Given the description of an element on the screen output the (x, y) to click on. 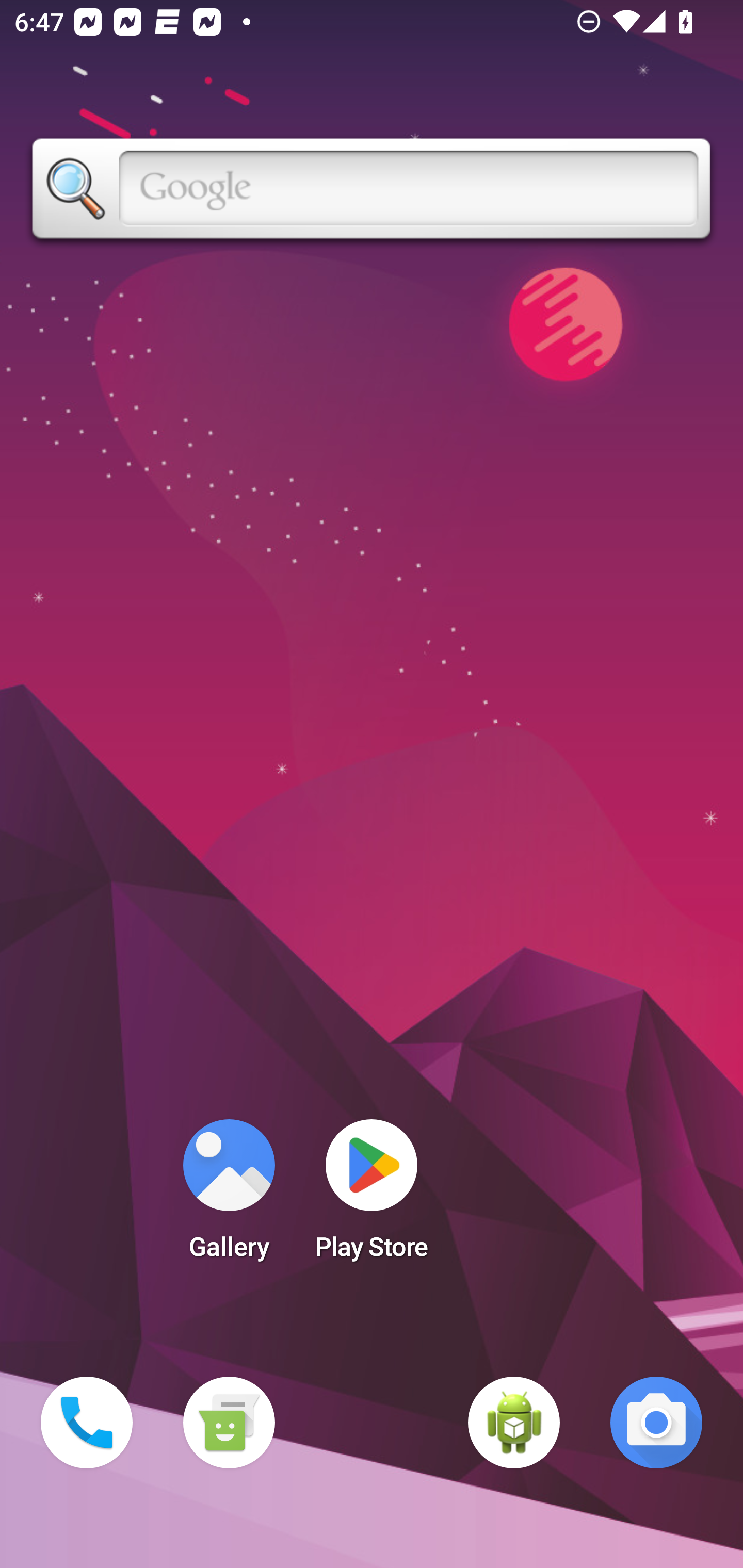
Gallery (228, 1195)
Play Store (371, 1195)
Phone (86, 1422)
Messaging (228, 1422)
WebView Browser Tester (513, 1422)
Camera (656, 1422)
